Given the description of an element on the screen output the (x, y) to click on. 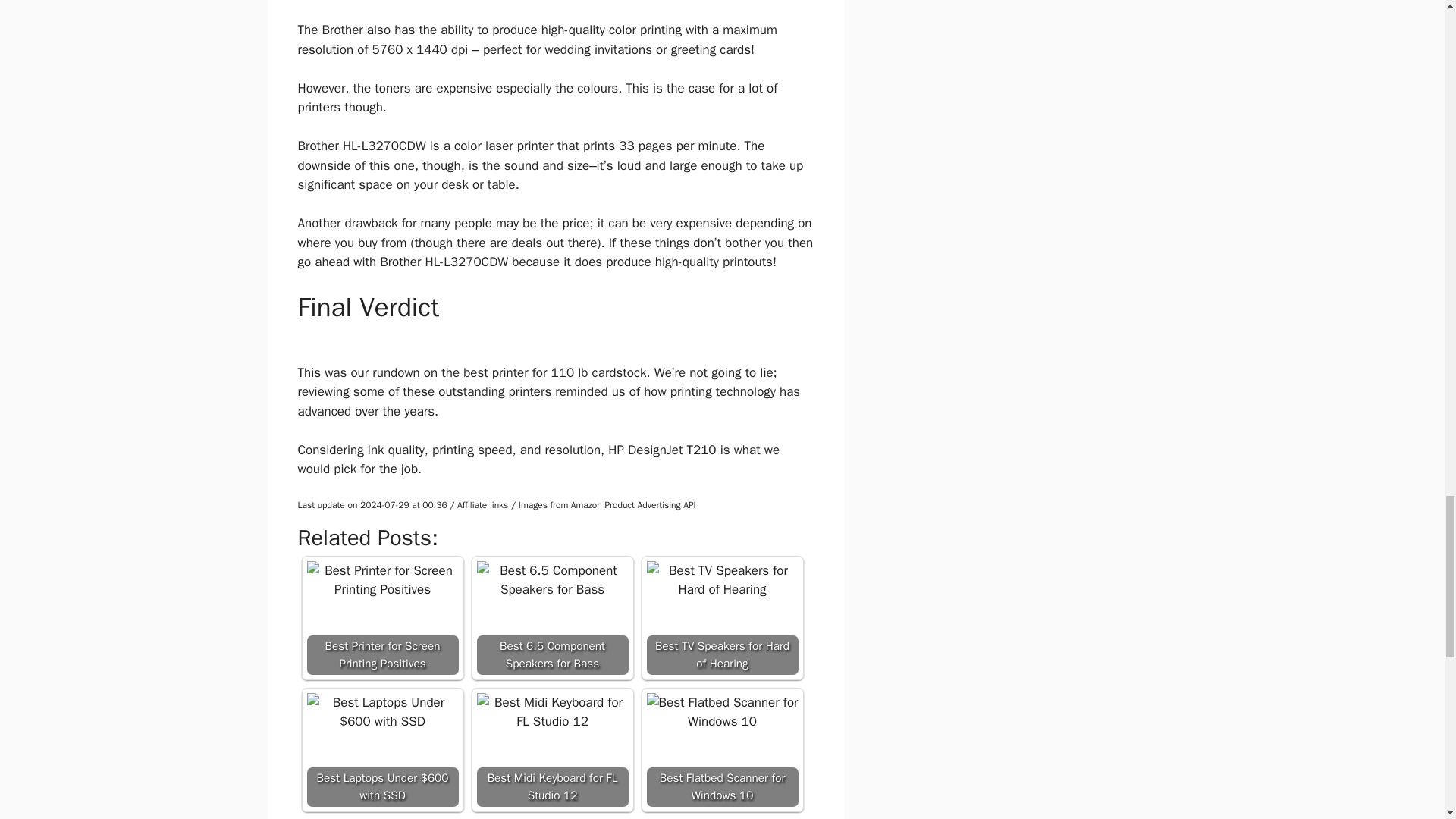
Best Printer for Screen Printing Positives (381, 617)
Best 6.5 Component Speakers for Bass (551, 617)
Best Flatbed Scanner for Windows 10 (721, 712)
Best 6.5 Component Speakers for Bass (551, 580)
Best Printer for Screen Printing Positives (381, 580)
Best Midi Keyboard for FL Studio 12 (551, 712)
Best Flatbed Scanner for Windows 10 (721, 749)
Best Midi Keyboard for FL Studio 12 (551, 749)
Best TV Speakers for Hard of Hearing (721, 617)
Best TV Speakers for Hard of Hearing (721, 580)
